Given the description of an element on the screen output the (x, y) to click on. 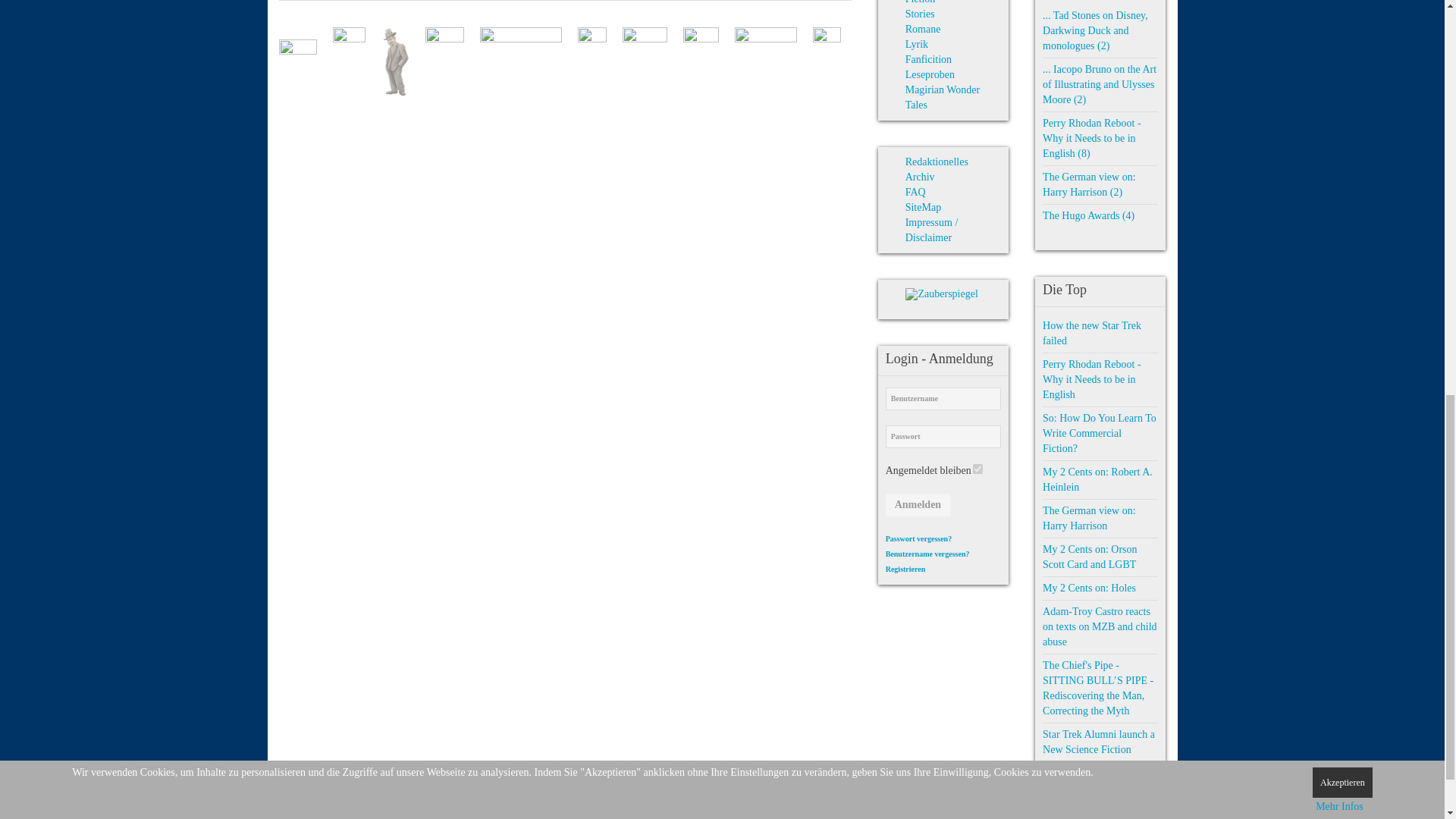
yes (977, 469)
Zauberspiegel - seit 1982 (940, 294)
